Given the description of an element on the screen output the (x, y) to click on. 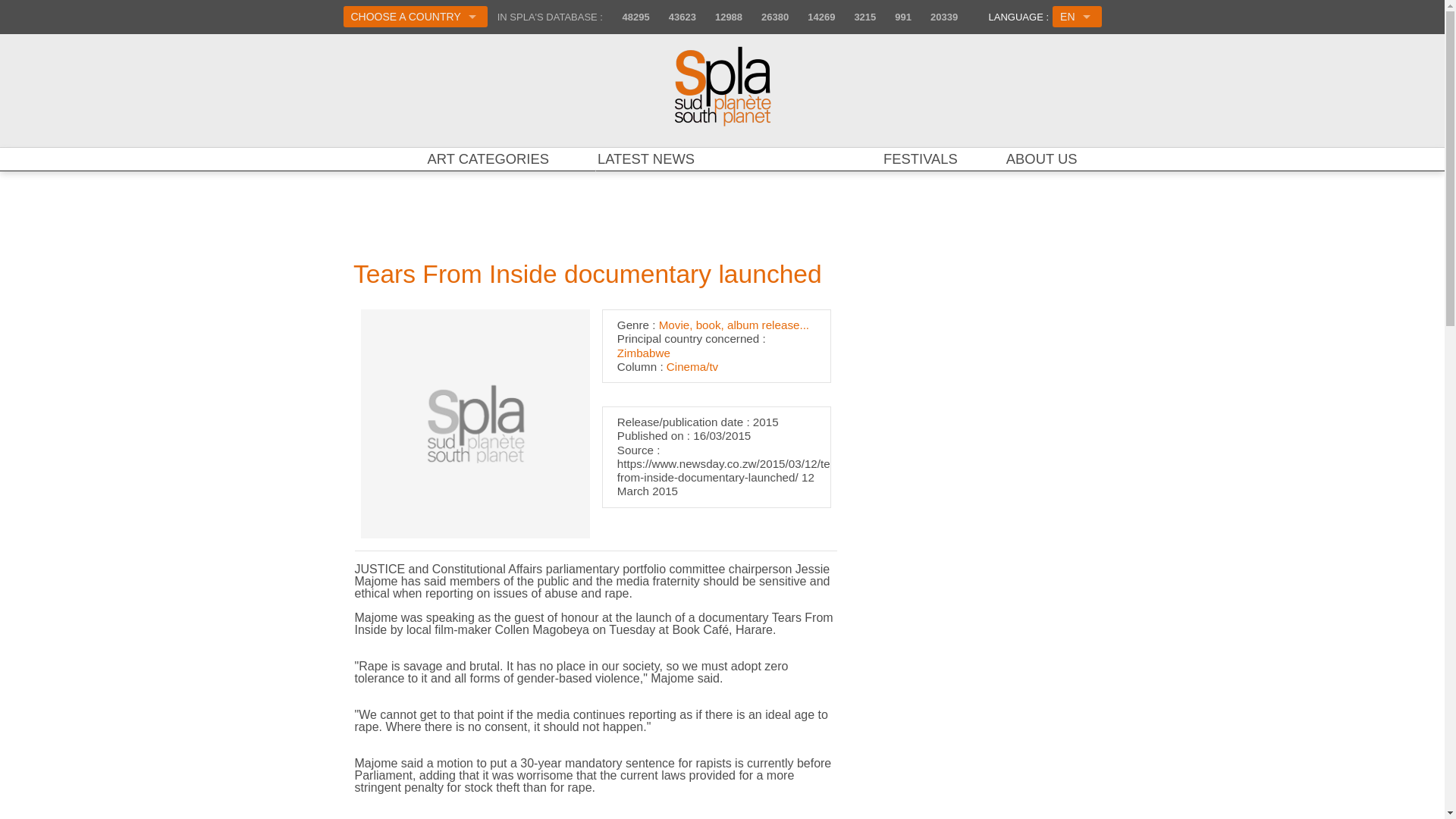
Latest news (645, 158)
Back to homepage (722, 84)
Festivals (920, 158)
Art categories (488, 158)
Latest news (936, 16)
Books (813, 16)
Click to search the SPLA database... (722, 156)
Shows (895, 16)
Films (767, 16)
Organizations (721, 16)
